Given the description of an element on the screen output the (x, y) to click on. 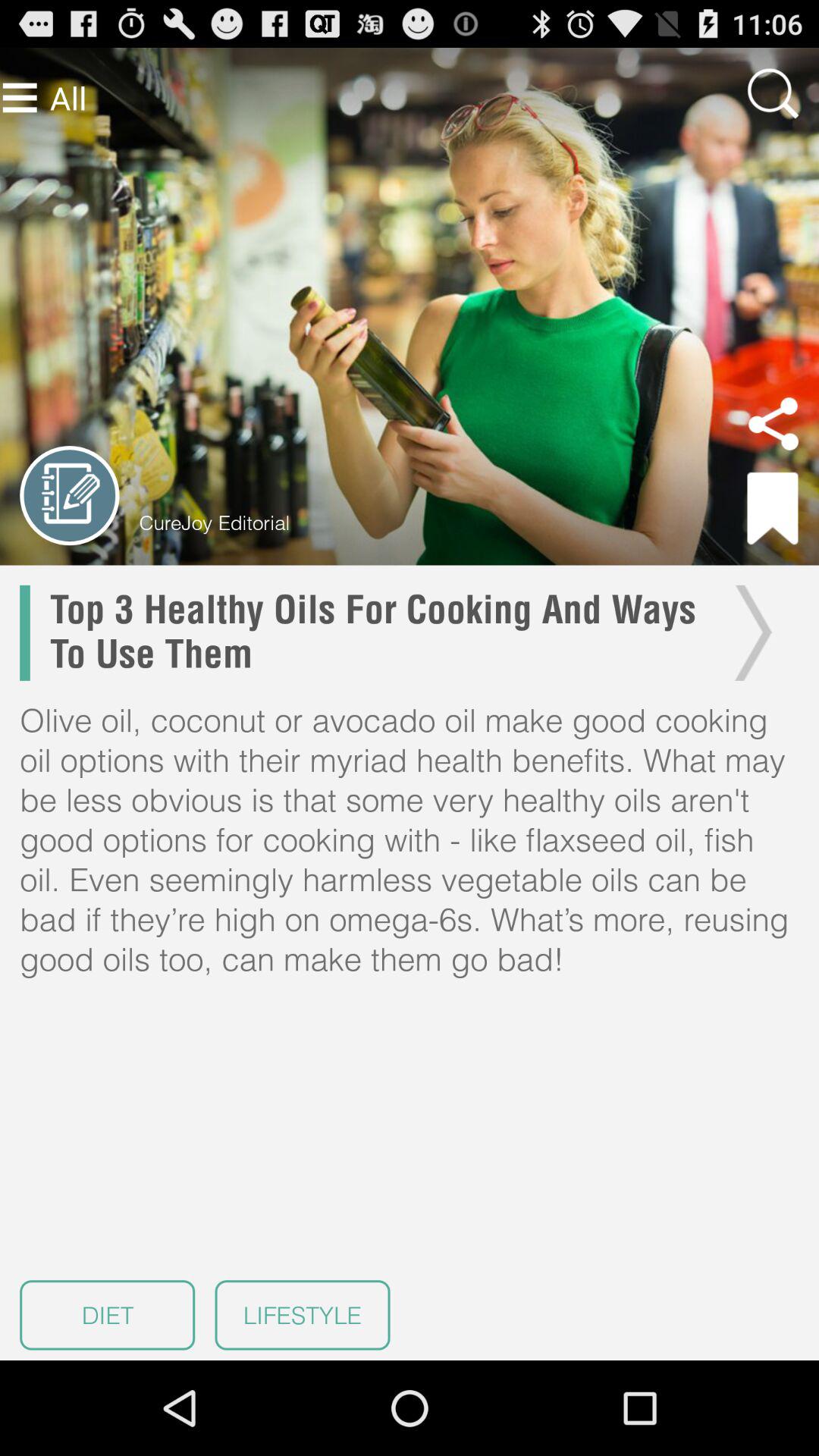
select the lifestyle at the bottom (302, 1315)
